Given the description of an element on the screen output the (x, y) to click on. 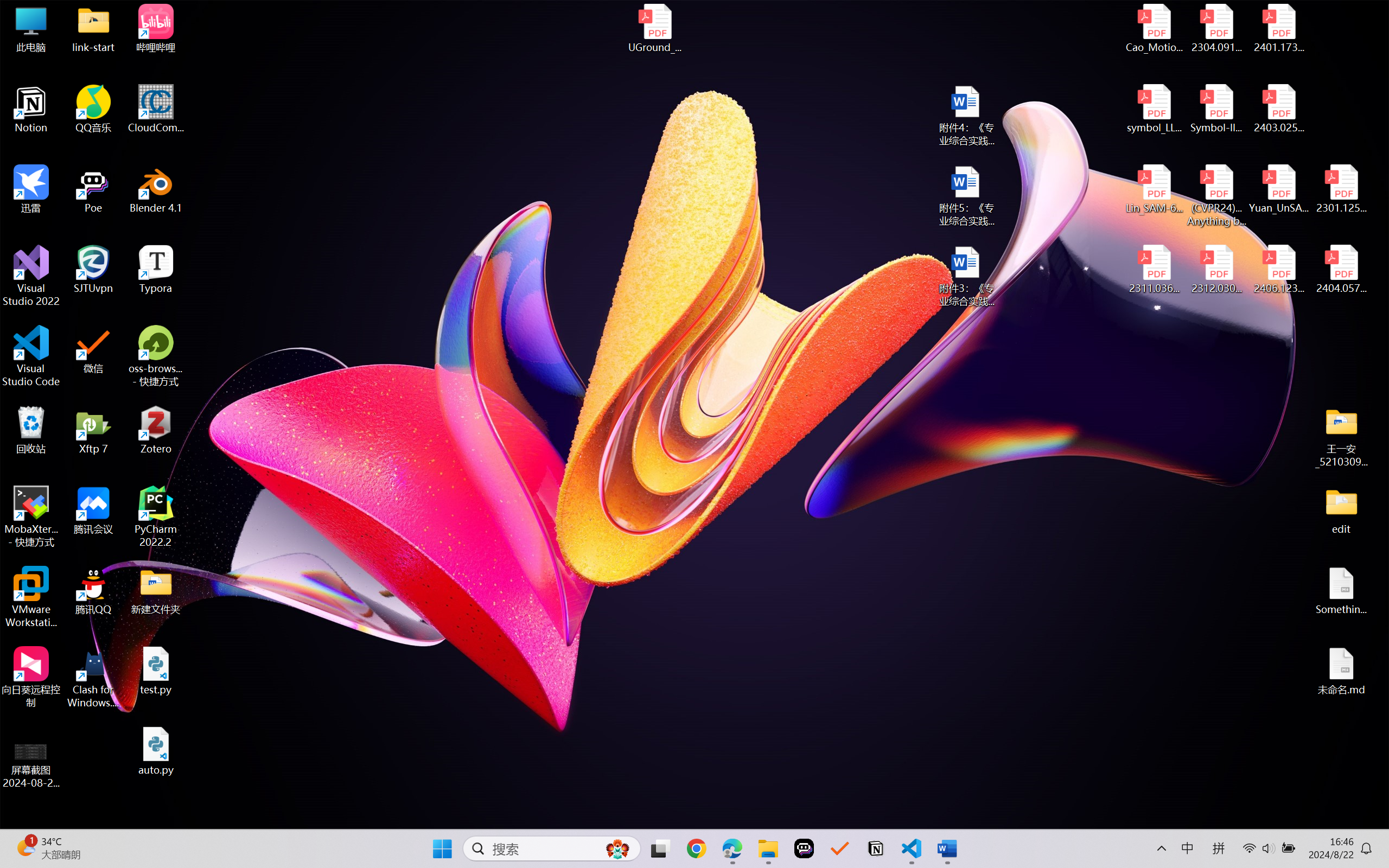
2311.03658v2.pdf (1154, 269)
2301.12597v3.pdf (1340, 189)
Typora (156, 269)
2312.03032v2.pdf (1216, 269)
